Given the description of an element on the screen output the (x, y) to click on. 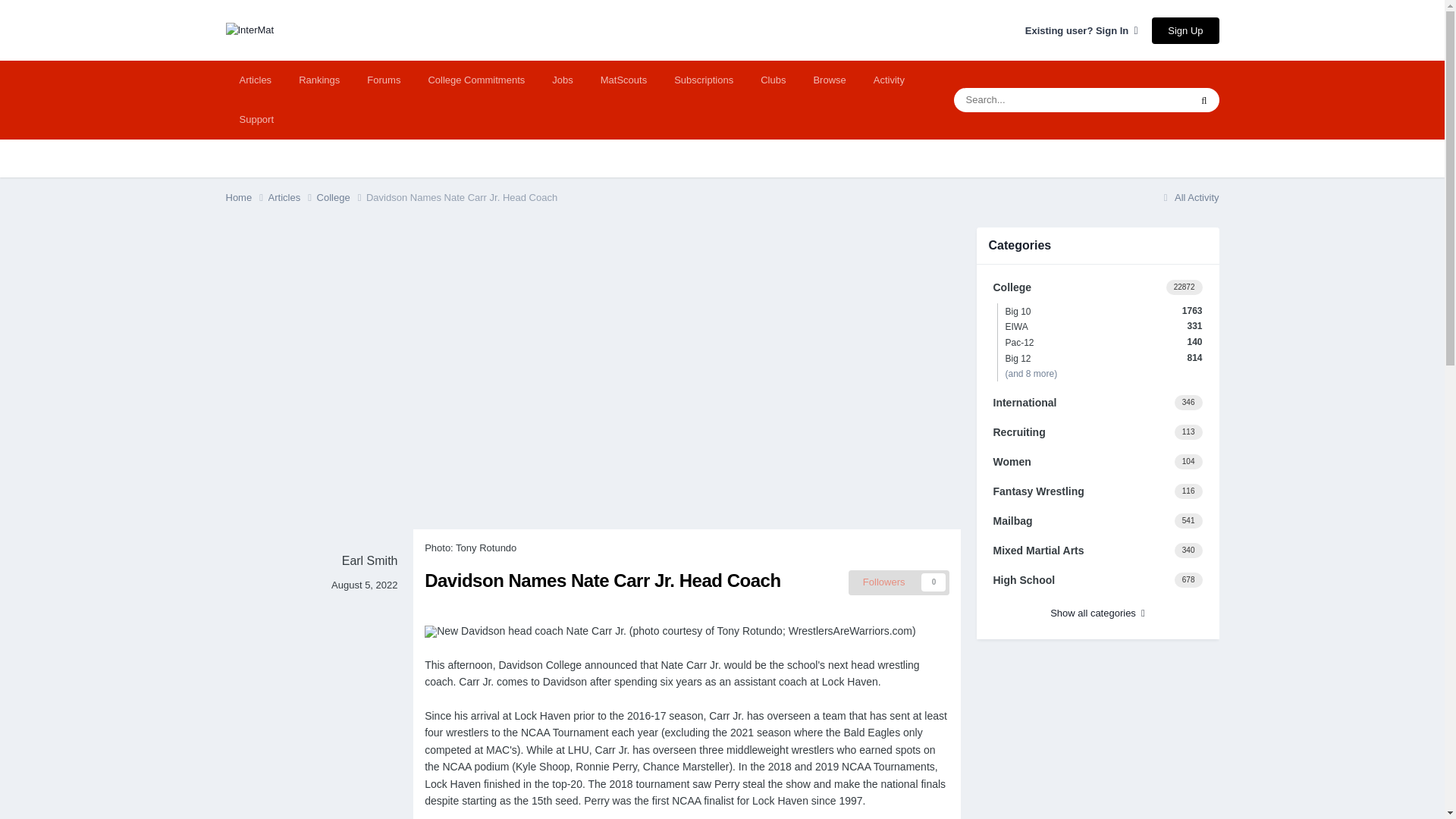
Support (256, 119)
College Commitments (475, 79)
Sign in to follow this (899, 582)
Sign Up (1184, 29)
MatScouts (623, 79)
Articles (255, 79)
Rankings (319, 79)
Subscriptions (703, 79)
All Activity (1188, 197)
Clubs (772, 79)
